Given the description of an element on the screen output the (x, y) to click on. 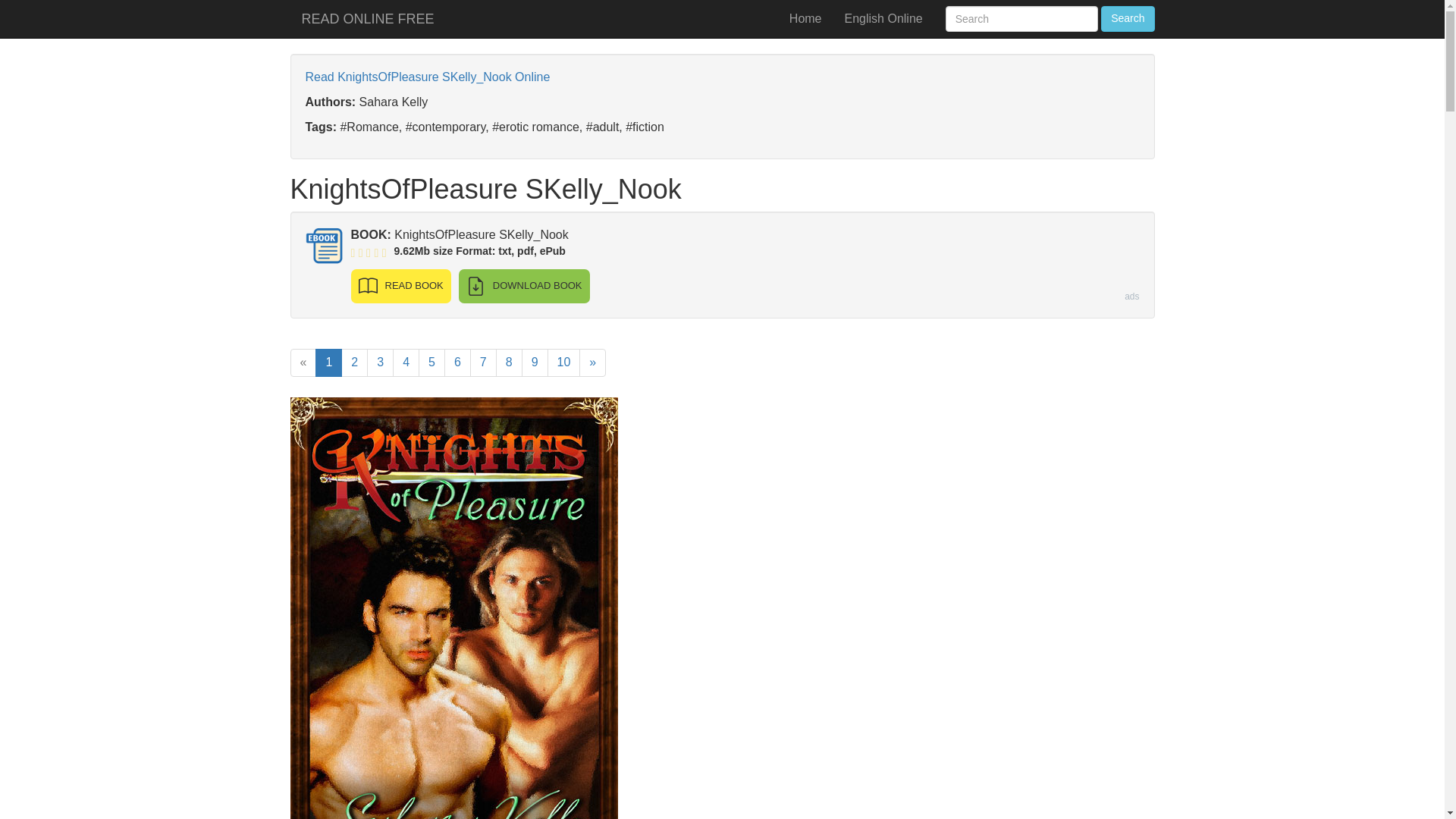
1 (328, 362)
Home (804, 18)
7 (483, 362)
Search (1127, 18)
5 (432, 362)
9 (534, 362)
10 (563, 362)
3 (379, 362)
6 (457, 362)
READ BOOK (399, 286)
DOWNLOAD BOOK (523, 286)
READ ONLINE FREE (367, 18)
2 (354, 362)
8 (509, 362)
English Online (883, 18)
